Given the description of an element on the screen output the (x, y) to click on. 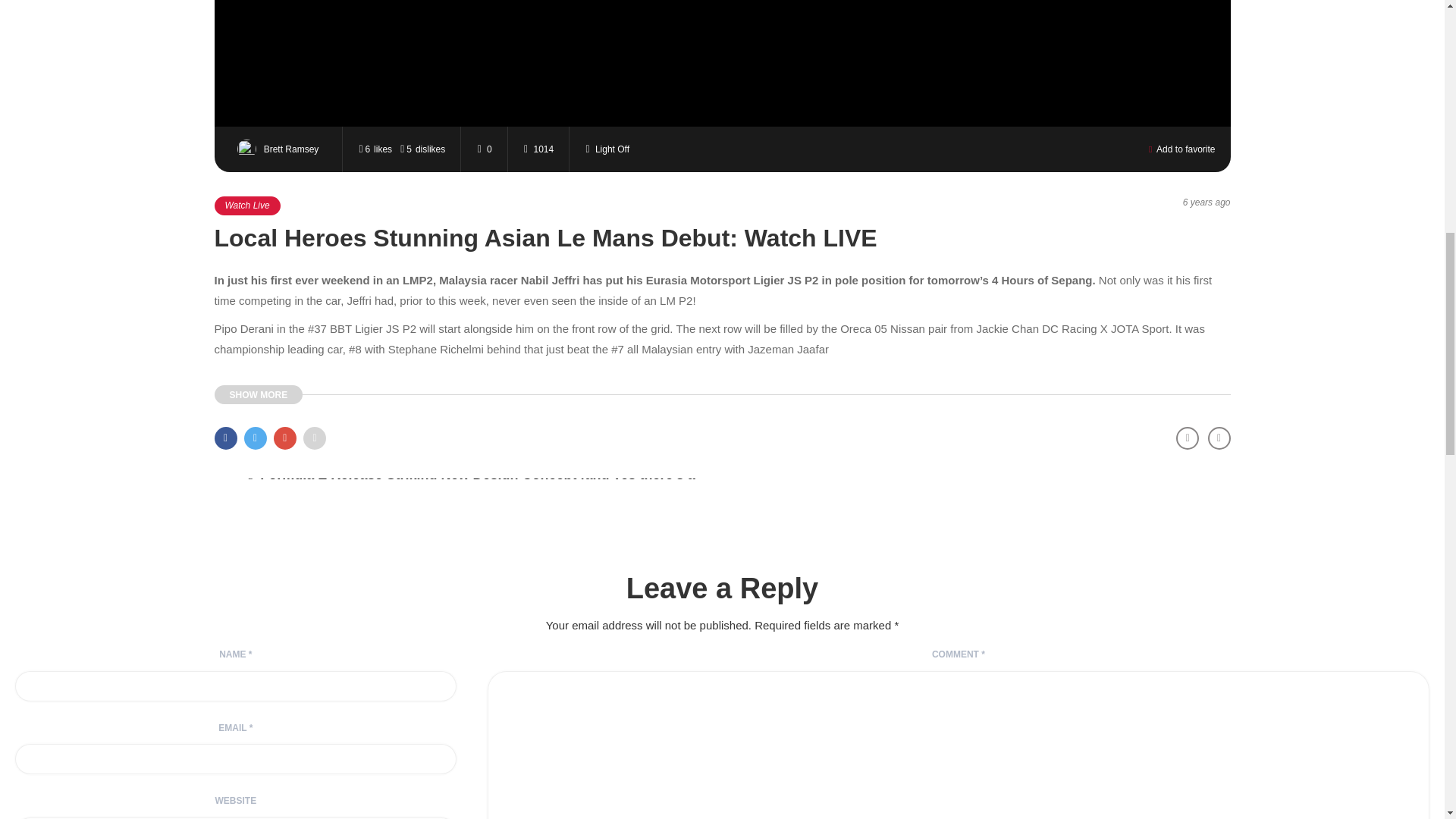
Watch Live (246, 205)
Brett Ramsey (280, 147)
I dislike this (421, 149)
Light Off (603, 149)
I like this (373, 149)
Add to favorite (1181, 149)
5dislikes (421, 149)
SHOW MORE (258, 394)
6likes (373, 149)
